Given the description of an element on the screen output the (x, y) to click on. 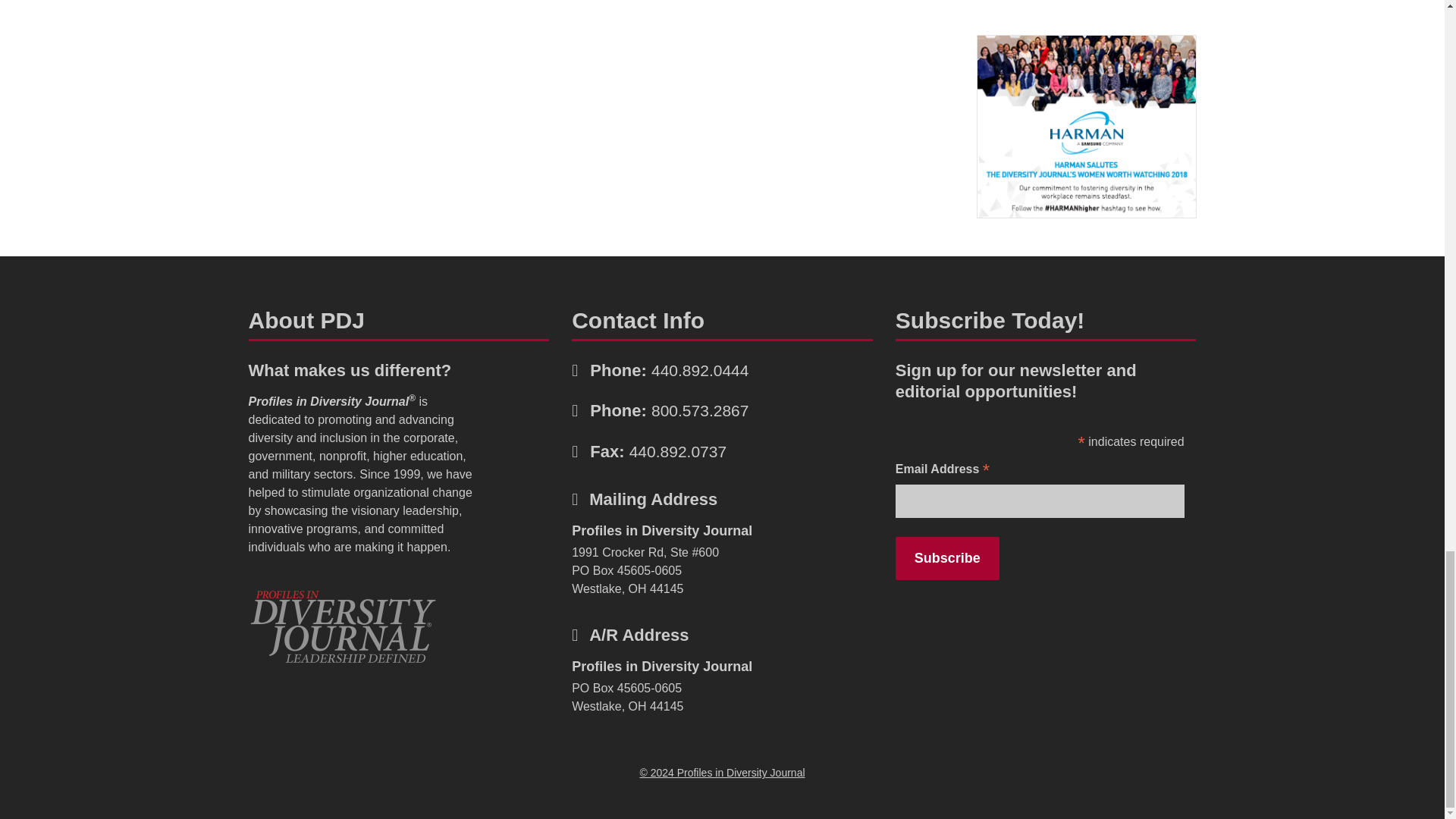
Subscribe (946, 558)
